Given the description of an element on the screen output the (x, y) to click on. 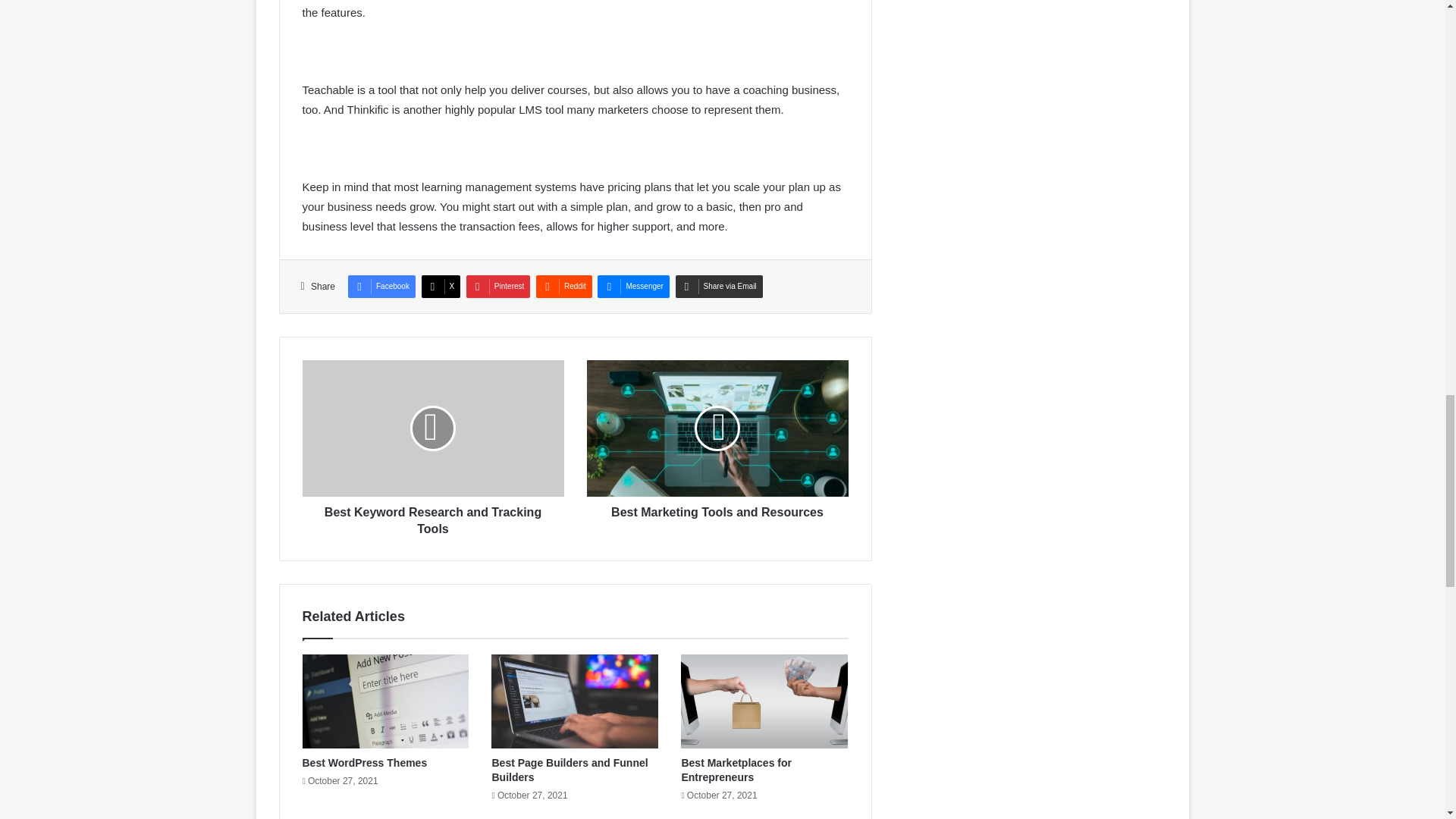
Best WordPress Themes (363, 762)
Reddit (563, 286)
Best Marketing Tools and Resources (717, 508)
Best Page Builders and Funnel Builders (569, 769)
Facebook (380, 286)
Messenger (632, 286)
Best Marketplaces for Entrepreneurs (736, 769)
Pinterest (497, 286)
Best Keyword Research and Tracking Tools (432, 516)
X (441, 286)
